Given the description of an element on the screen output the (x, y) to click on. 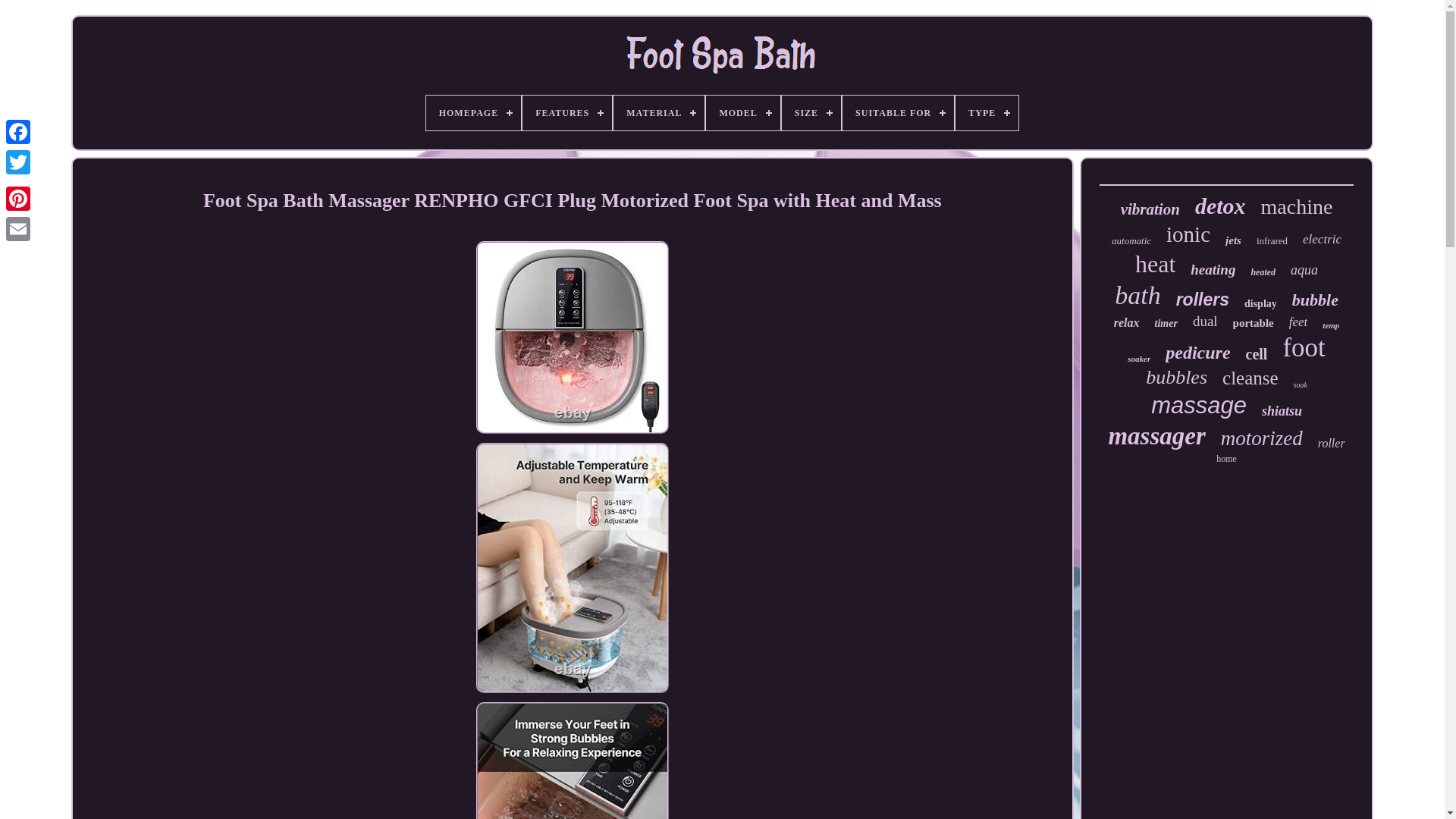
FEATURES (566, 112)
MATERIAL (658, 112)
HOMEPAGE (473, 112)
